Given the description of an element on the screen output the (x, y) to click on. 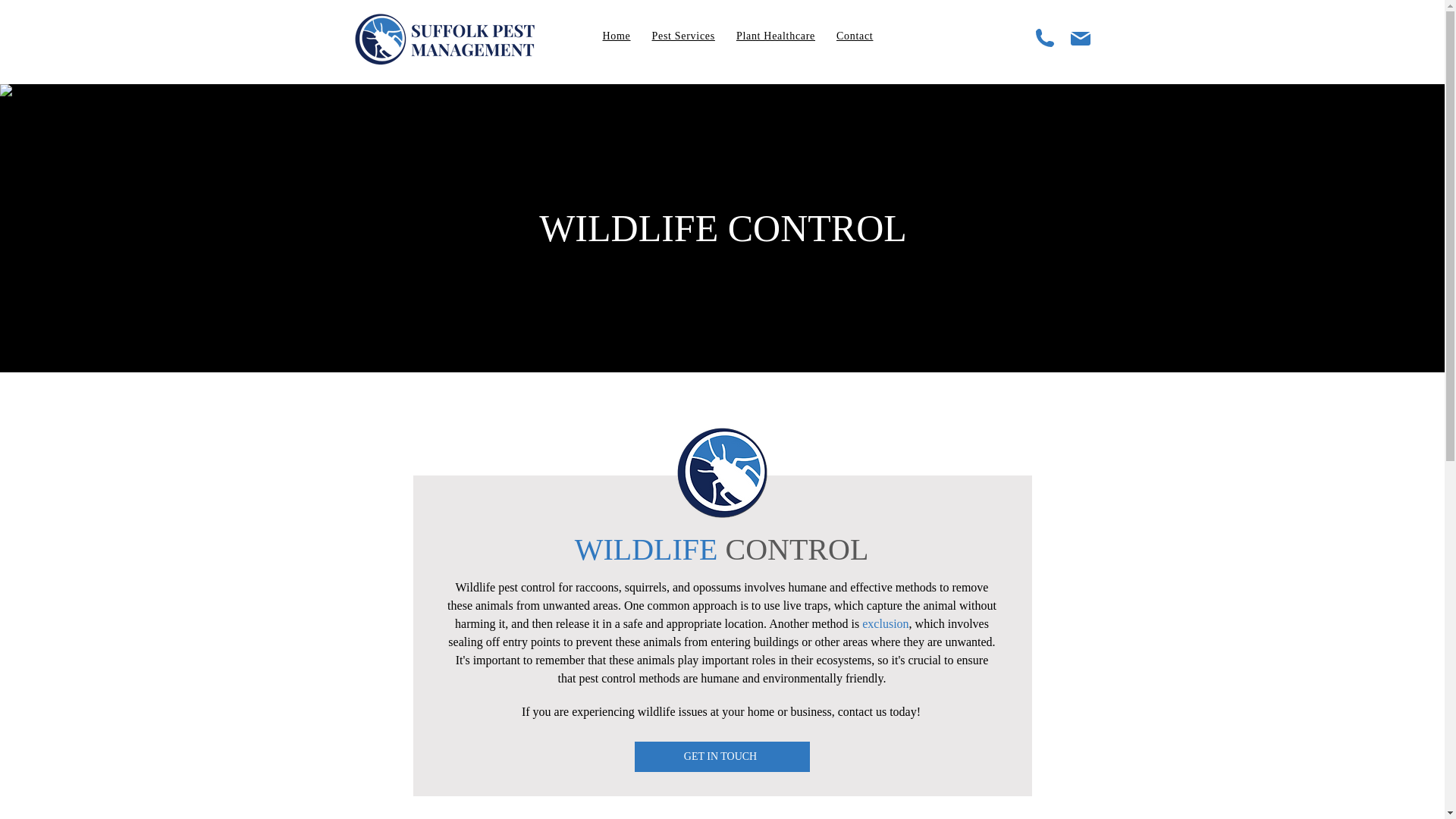
Home (615, 35)
Contact (854, 35)
exclusion (884, 623)
Plant Healthcare (775, 35)
GET IN TOUCH (721, 757)
